Given the description of an element on the screen output the (x, y) to click on. 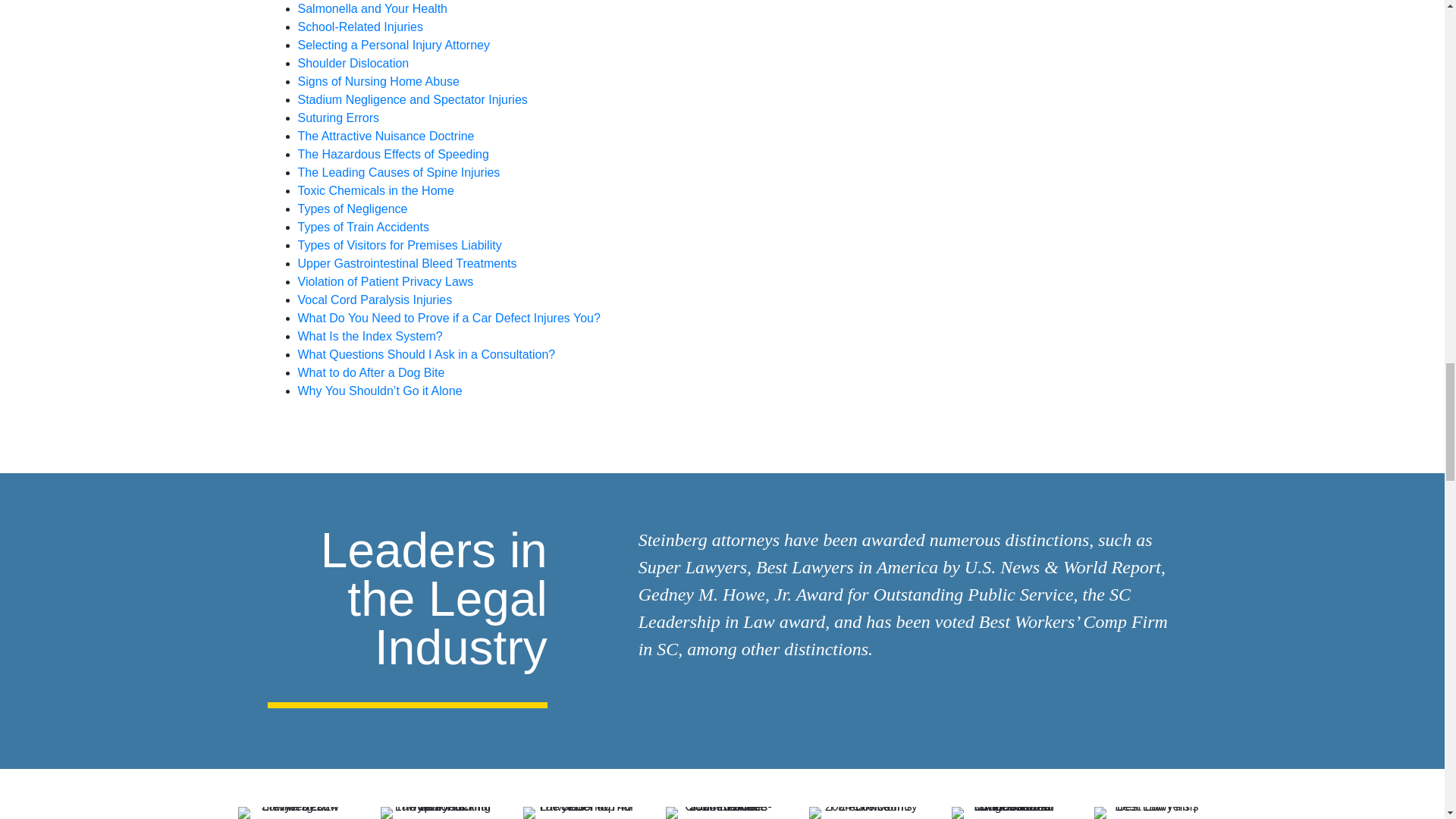
The National Trial Lawyer - Trucking Top 10 Trial Lawyers (436, 812)
best-law-firms-2022 (1150, 812)
2024 Reader's Choice Winner - Summerville Journal Scene (721, 812)
Steinberg Law Firm Best Lawyers 2024 (294, 812)
The National Trial Lawyers - Top 40 Under 40 (578, 812)
2024 Lowcountry Parent - Mom's Choice (865, 812)
